Given the description of an element on the screen output the (x, y) to click on. 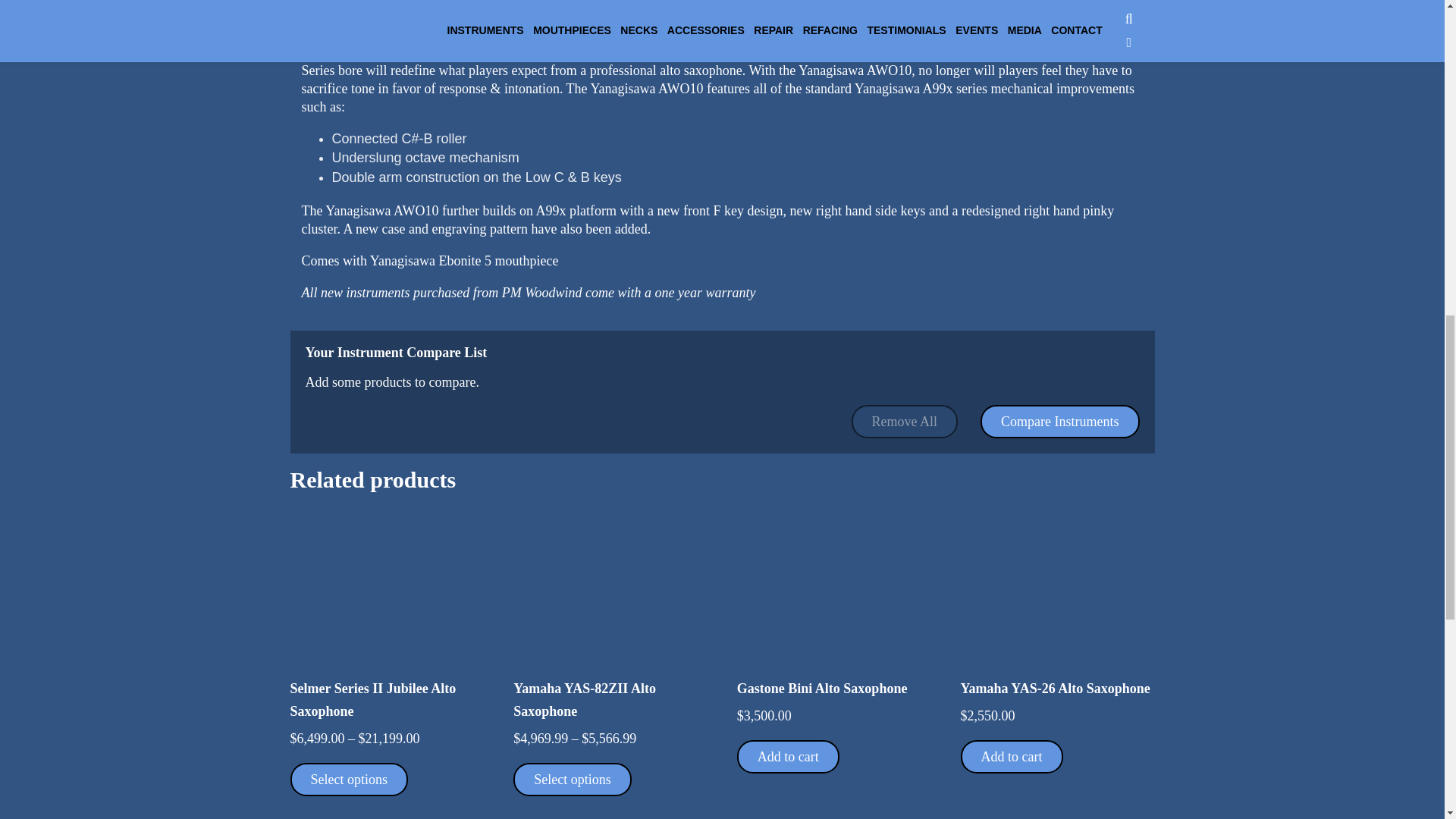
Compare Instruments (1058, 421)
Select options (572, 779)
Select options (348, 779)
Remove All (904, 421)
Compare Instruments (1058, 421)
